Given the description of an element on the screen output the (x, y) to click on. 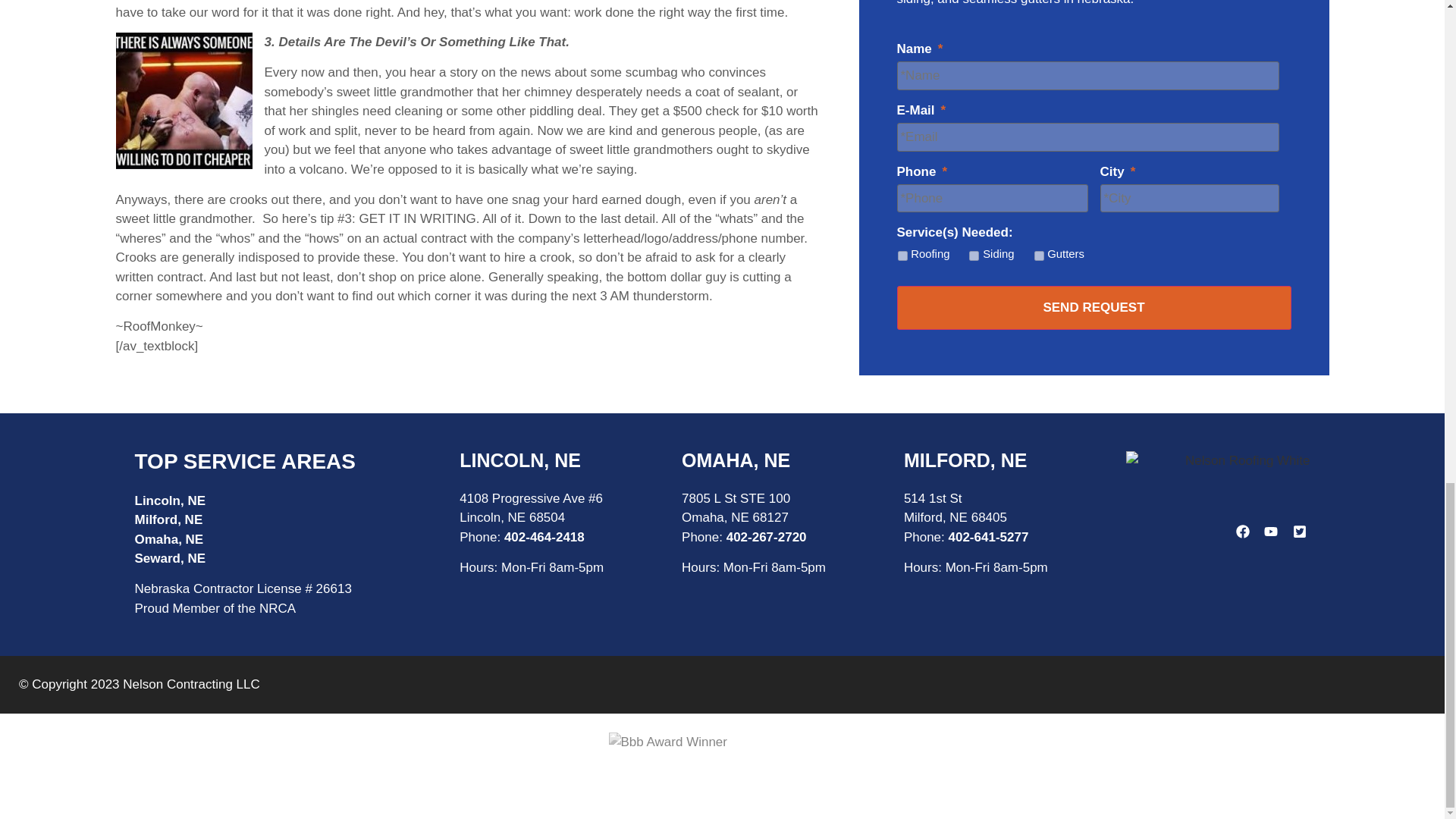
Gutters (1038, 255)
Siding (973, 255)
Send Request (1093, 307)
Roofing (902, 255)
